Given the description of an element on the screen output the (x, y) to click on. 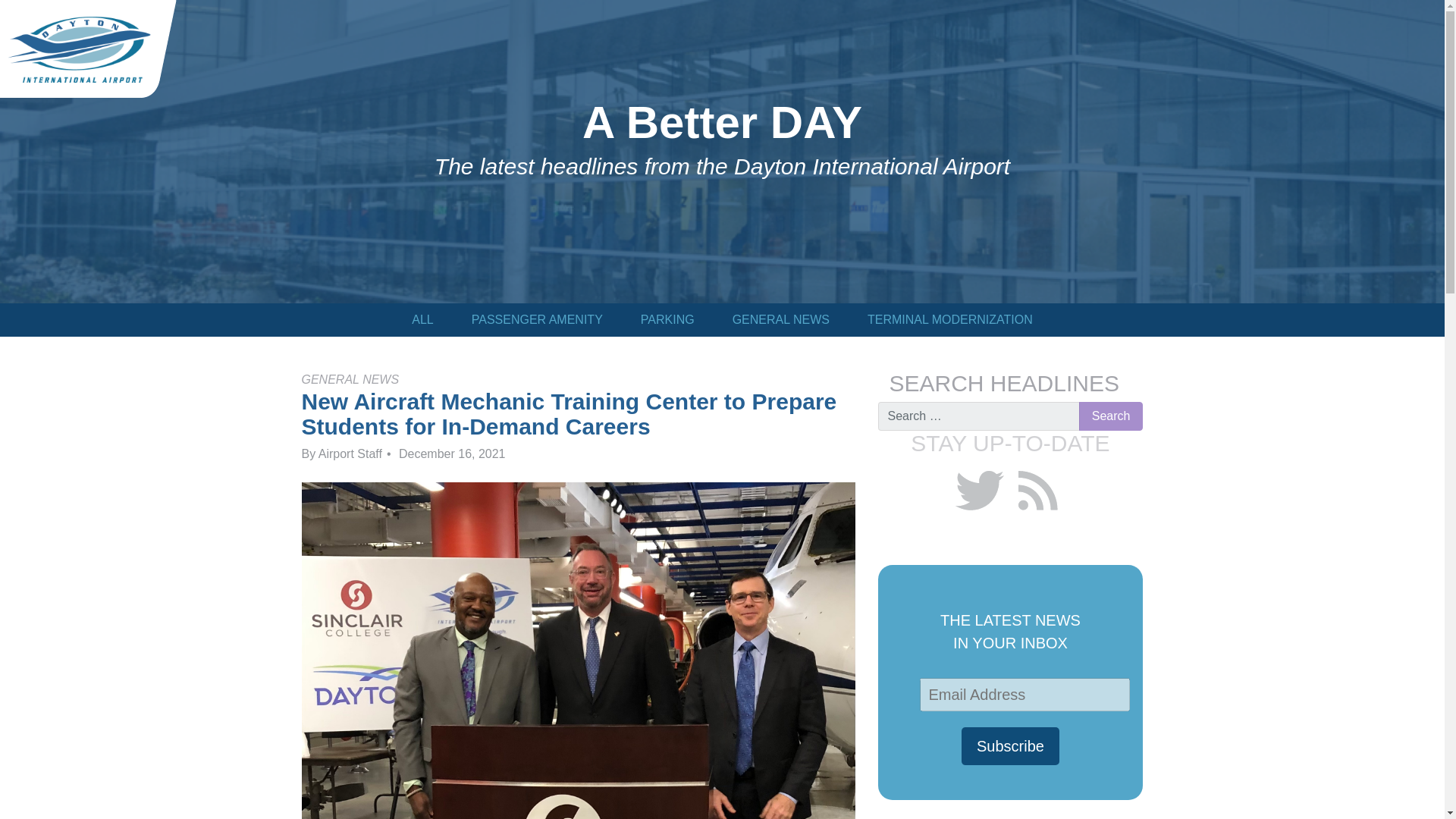
Terminal Modernization (949, 319)
TERMINAL MODERNIZATION (949, 319)
Subscribe (1009, 745)
All (422, 319)
Passenger Amenity (536, 319)
PARKING (667, 319)
General News (780, 319)
Search (1110, 416)
PASSENGER AMENITY (536, 319)
Subscribe (1009, 745)
GENERAL NEWS (780, 319)
Parking (667, 319)
Search (1110, 416)
ALL (422, 319)
